Given the description of an element on the screen output the (x, y) to click on. 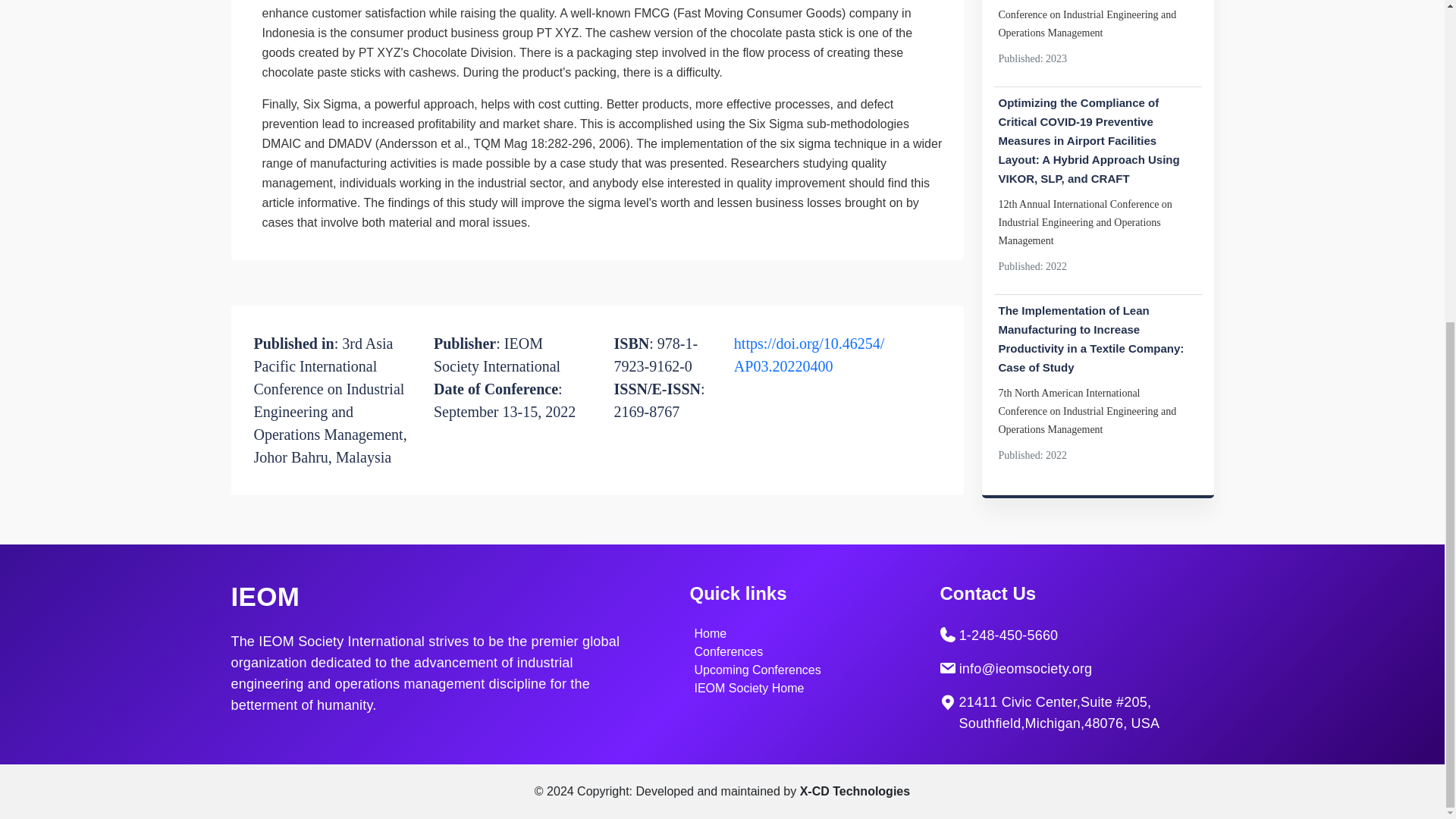
IEOM Society Home (749, 687)
X-CD Technologies (855, 790)
Upcoming Conferences (757, 669)
Conferences (728, 651)
Home (710, 633)
